Given the description of an element on the screen output the (x, y) to click on. 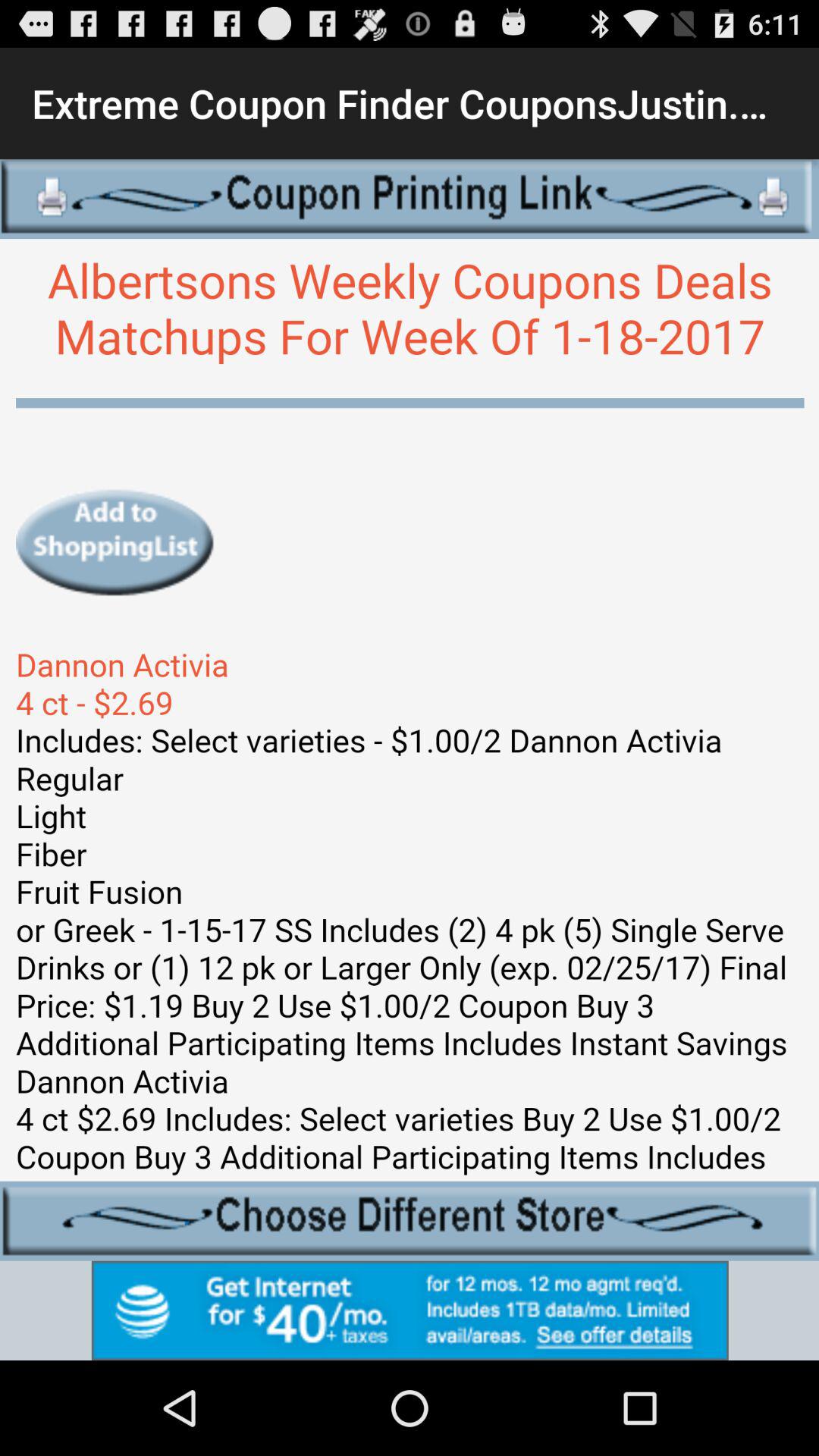
change location (409, 1220)
